Given the description of an element on the screen output the (x, y) to click on. 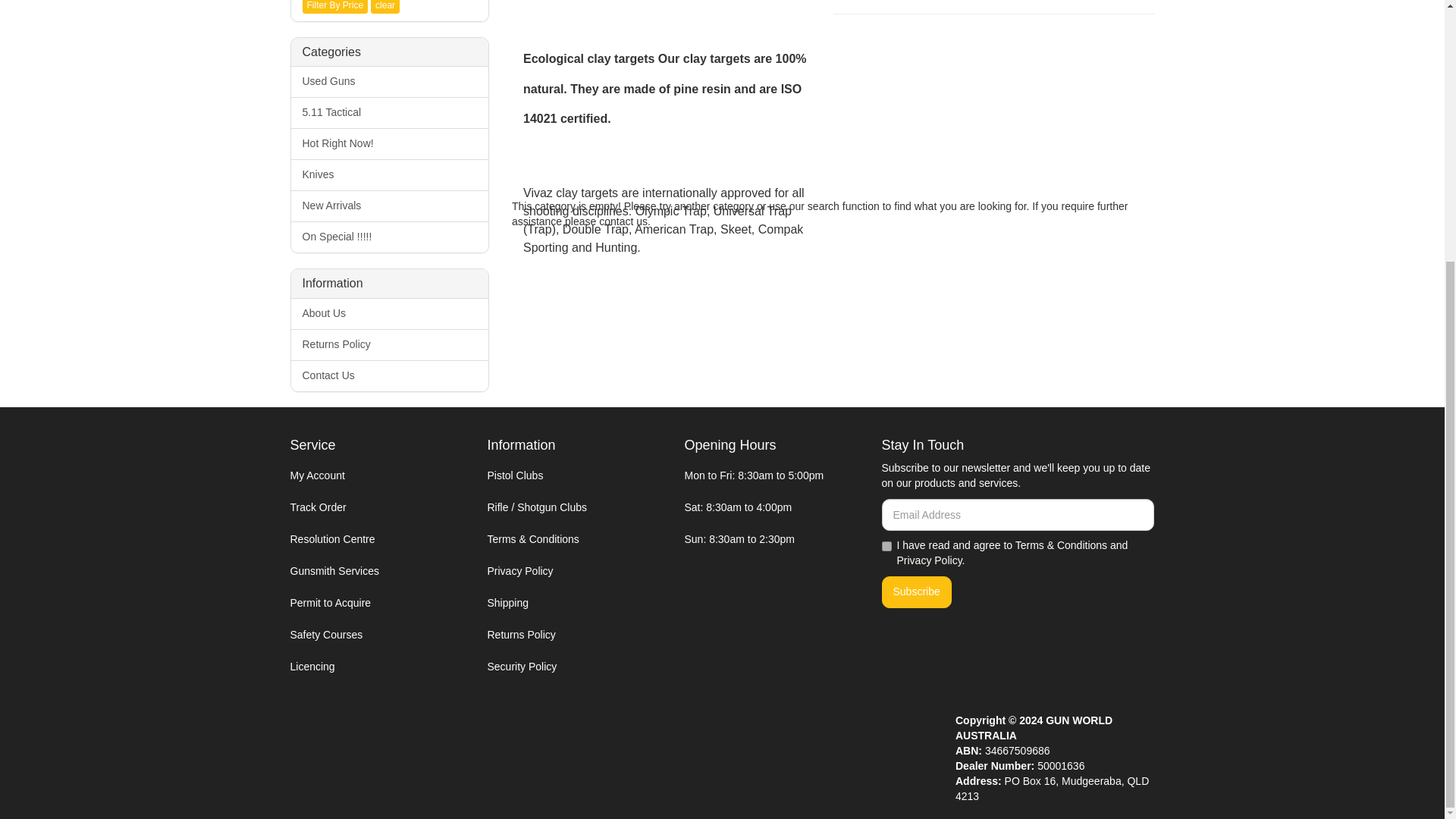
5.11 Tactical (390, 112)
Filter By Price (334, 6)
clear (384, 6)
Filter By Price (334, 6)
y (885, 546)
Subscribe (915, 592)
Used Guns (390, 81)
